Given the description of an element on the screen output the (x, y) to click on. 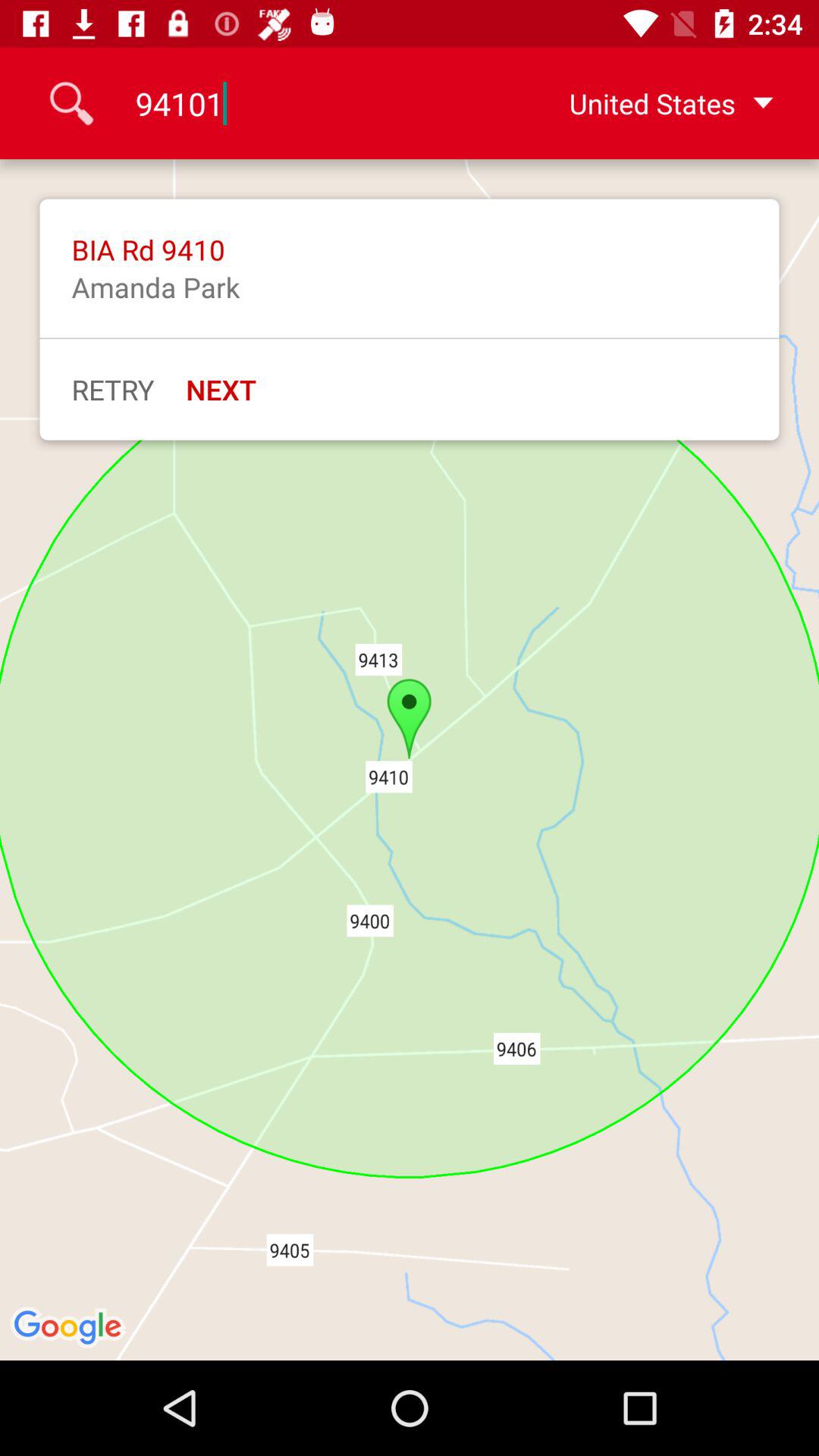
tap the item to the right of 94101 item (647, 103)
